Given the description of an element on the screen output the (x, y) to click on. 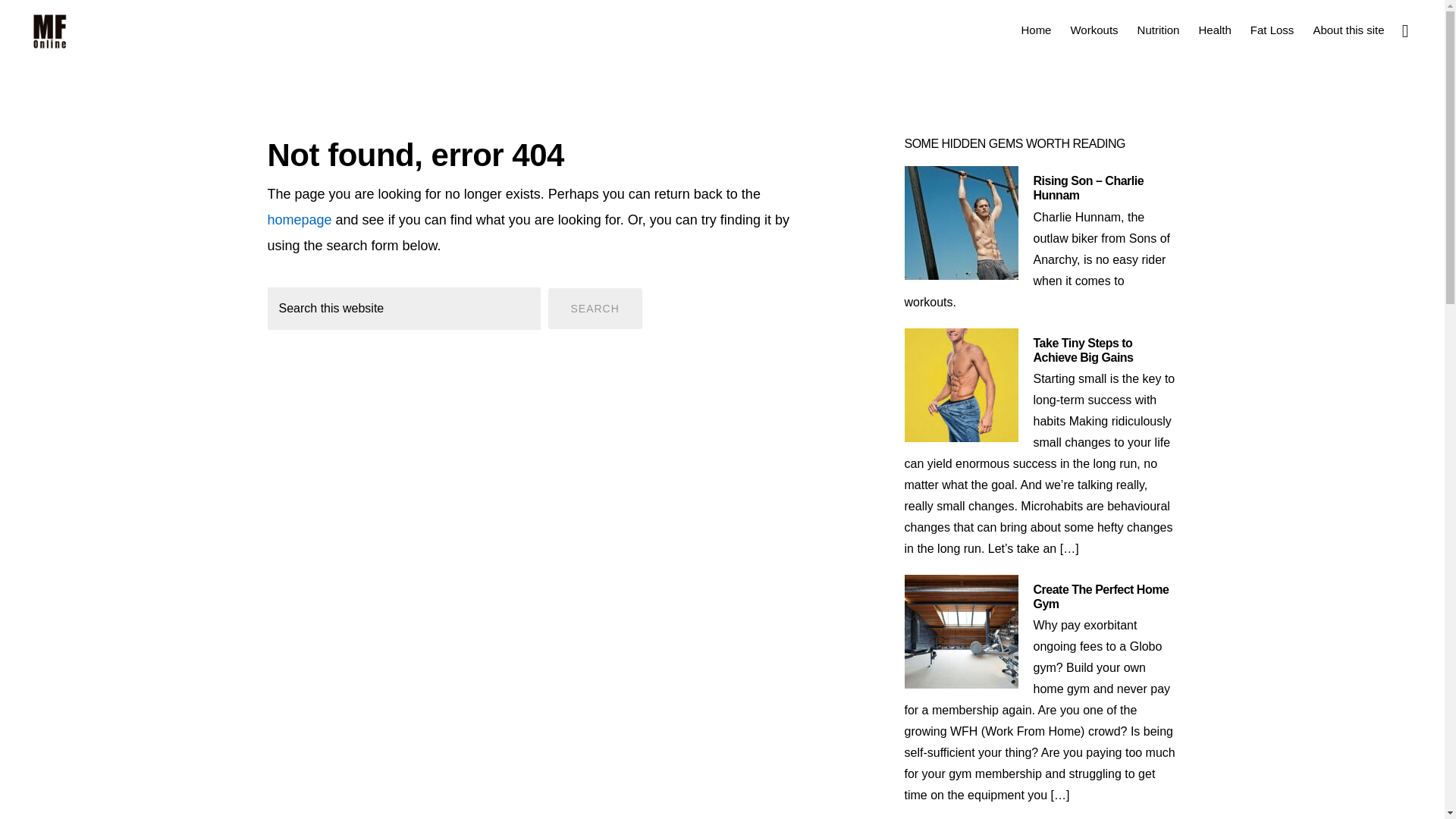
SIGN UP FOR OUR NEWSLETTER (796, 775)
GUEST POST GUIDELINES (632, 775)
Create The Perfect Home Gym (1100, 596)
Nutrition (1158, 29)
About this site (1347, 29)
Search (594, 308)
Fat Loss (1272, 29)
Health (1215, 29)
Search (594, 308)
Search (594, 308)
Workouts (1093, 29)
Contact Media Pty Ltd (753, 737)
Home (1035, 29)
Privacy Policy  (674, 748)
